Given the description of an element on the screen output the (x, y) to click on. 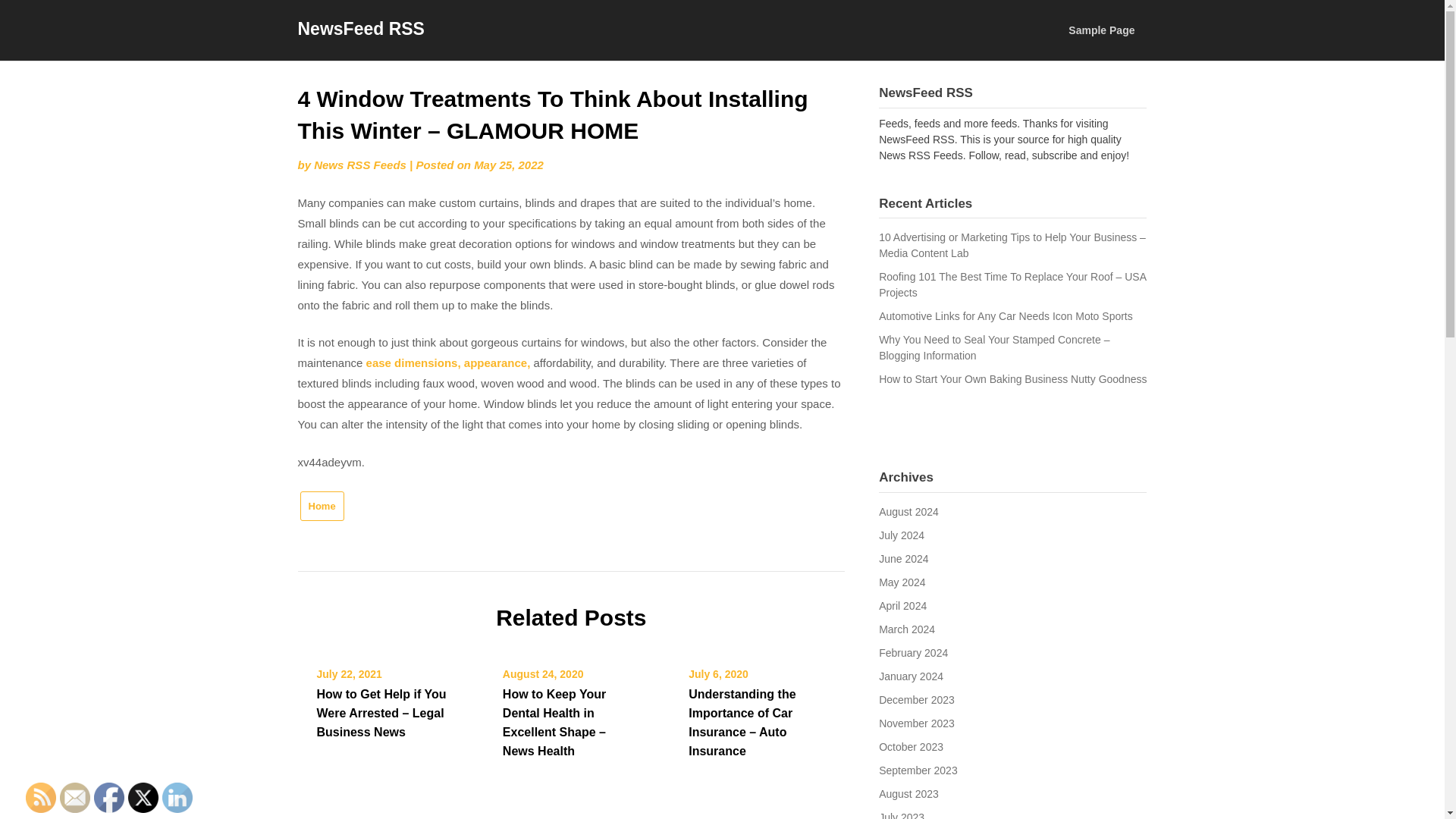
Home (321, 505)
Sample Page (1102, 30)
May 2024 (901, 582)
How to Start Your Own Baking Business Nutty Goodness (1013, 378)
May 25, 2022 (508, 164)
April 2024 (902, 605)
July 2024 (901, 535)
January 2024 (911, 676)
ease dimensions, appearance, (448, 362)
August 2024 (909, 511)
